Given the description of an element on the screen output the (x, y) to click on. 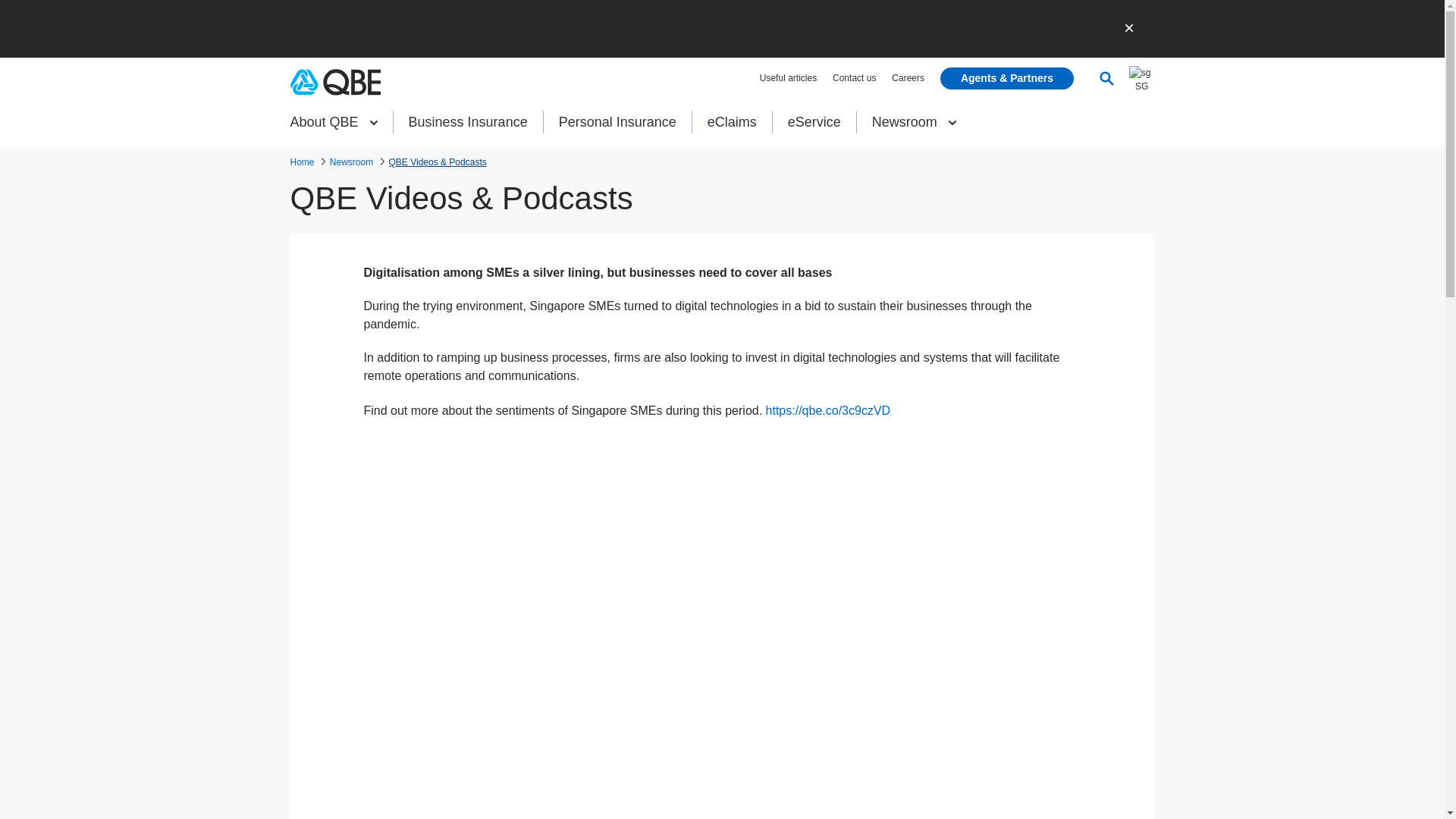
Search (1106, 77)
QBE Insurance (334, 81)
search (1139, 119)
SG (1141, 92)
Useful articles (788, 77)
Contact us (854, 77)
Careers (907, 77)
